Given the description of an element on the screen output the (x, y) to click on. 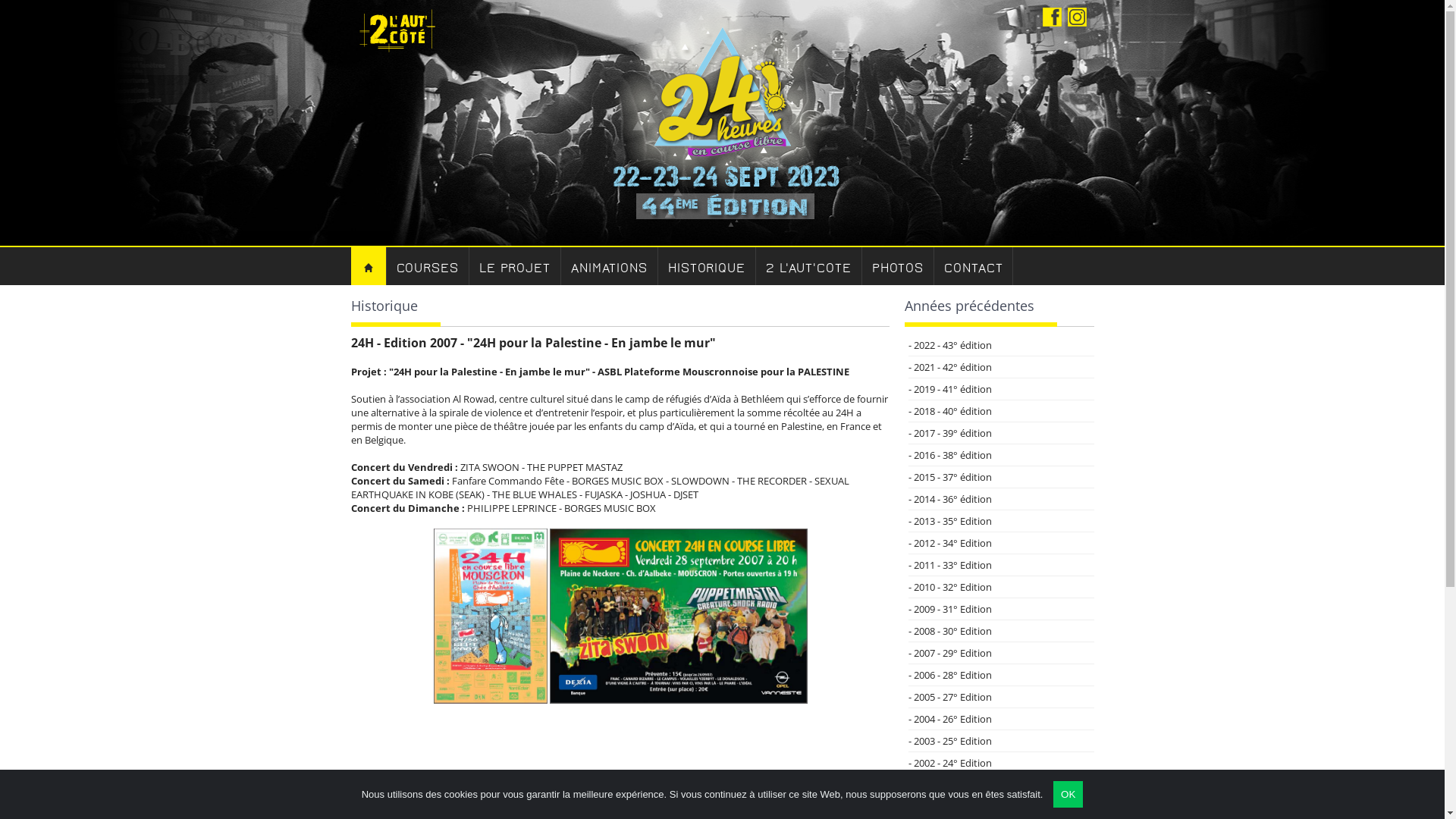
CONTACT Element type: text (973, 266)
2 L'AUT'COTE Element type: text (809, 266)
ANIMATIONS Element type: text (609, 266)
PHOTOS Element type: text (898, 266)
LE PROJET Element type: text (515, 266)
COURSES Element type: text (427, 266)
OK Element type: text (1067, 794)
HISTORIQUE Element type: text (707, 266)
